Given the description of an element on the screen output the (x, y) to click on. 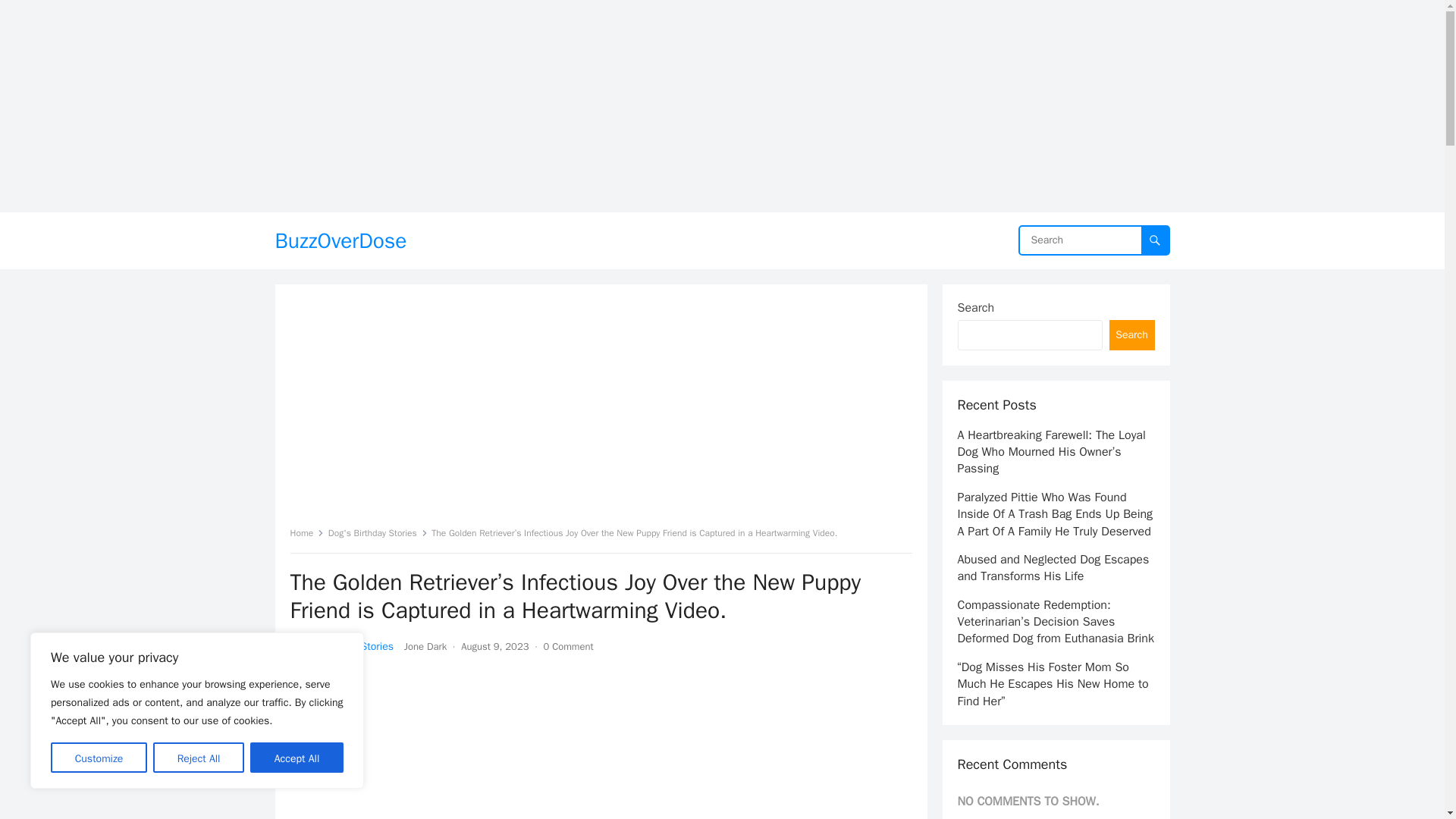
Advertisement (600, 744)
Dog's Birthday Stories (378, 532)
Customize (98, 757)
Advertisement (600, 411)
Dog's Birthday Stories (341, 645)
Posts by Jone Dark (425, 645)
BuzzOverDose (340, 240)
Accept All (296, 757)
Reject All (198, 757)
